Given the description of an element on the screen output the (x, y) to click on. 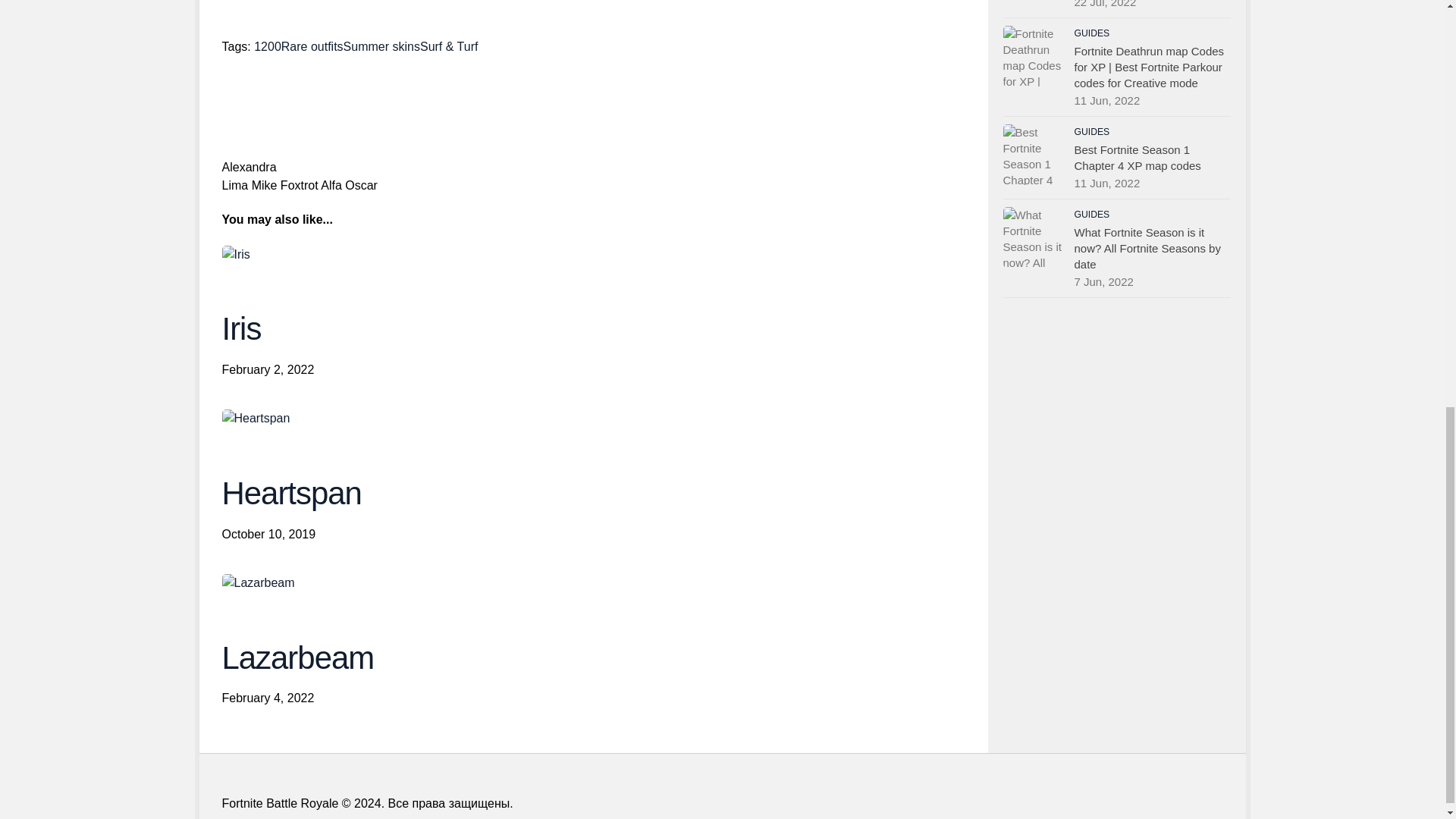
Lazarbeam   (257, 583)
Rare outfits (312, 46)
1200 (267, 46)
Summer skins (381, 46)
Heartspan   (255, 418)
Iris   (234, 254)
